Given the description of an element on the screen output the (x, y) to click on. 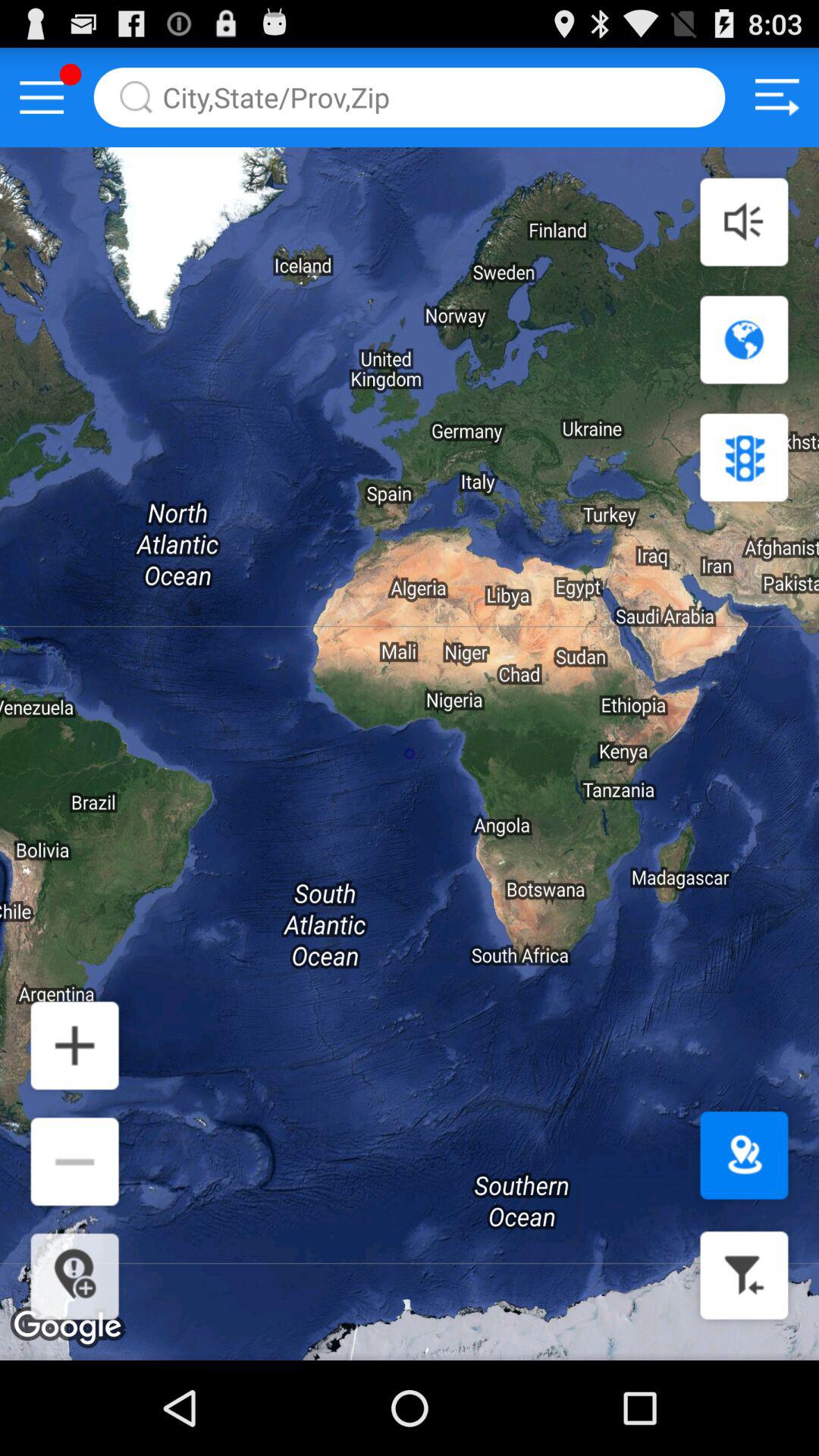
city/state/prov.zip (409, 97)
